Given the description of an element on the screen output the (x, y) to click on. 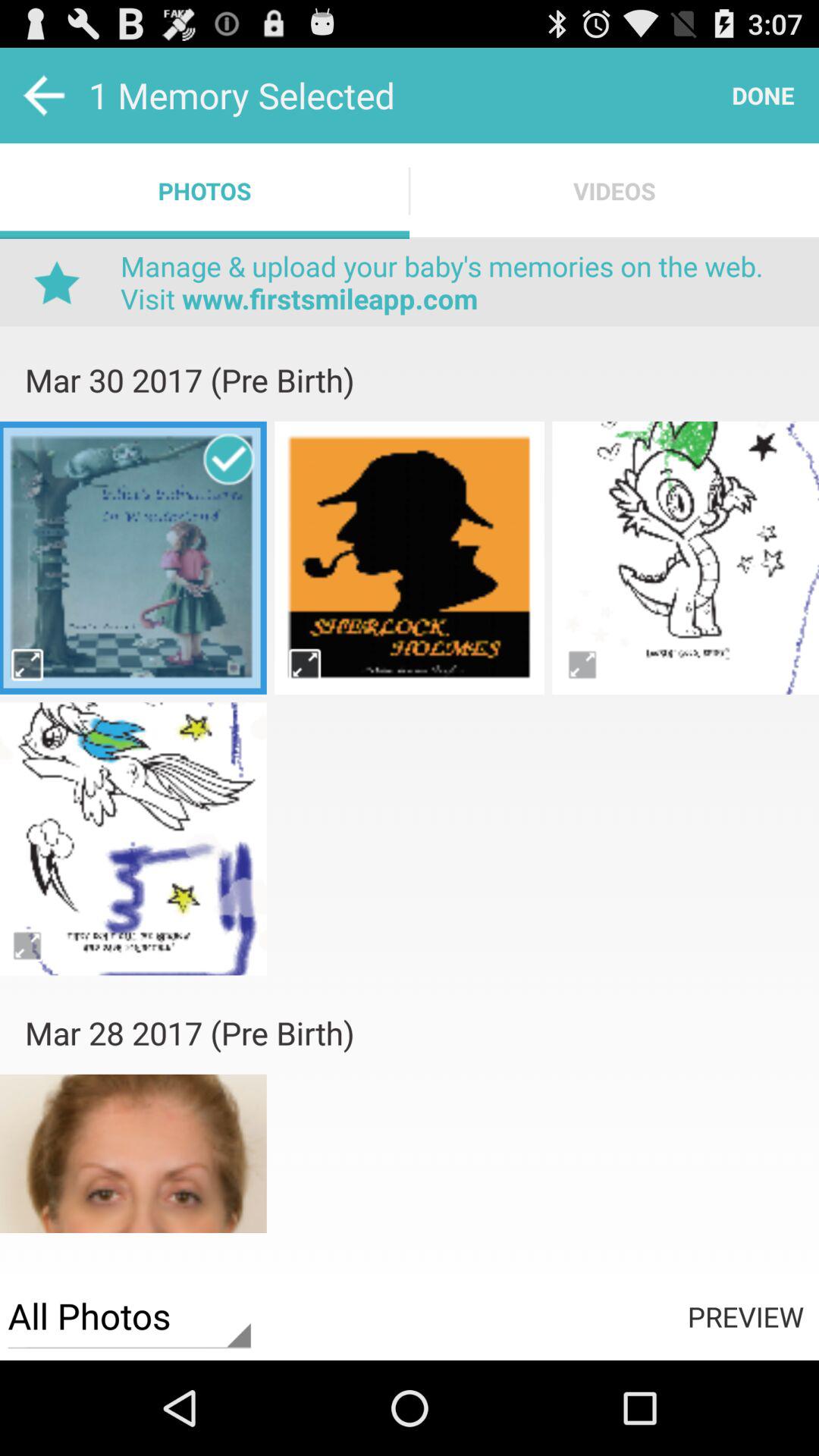
expand image (28, 945)
